Given the description of an element on the screen output the (x, y) to click on. 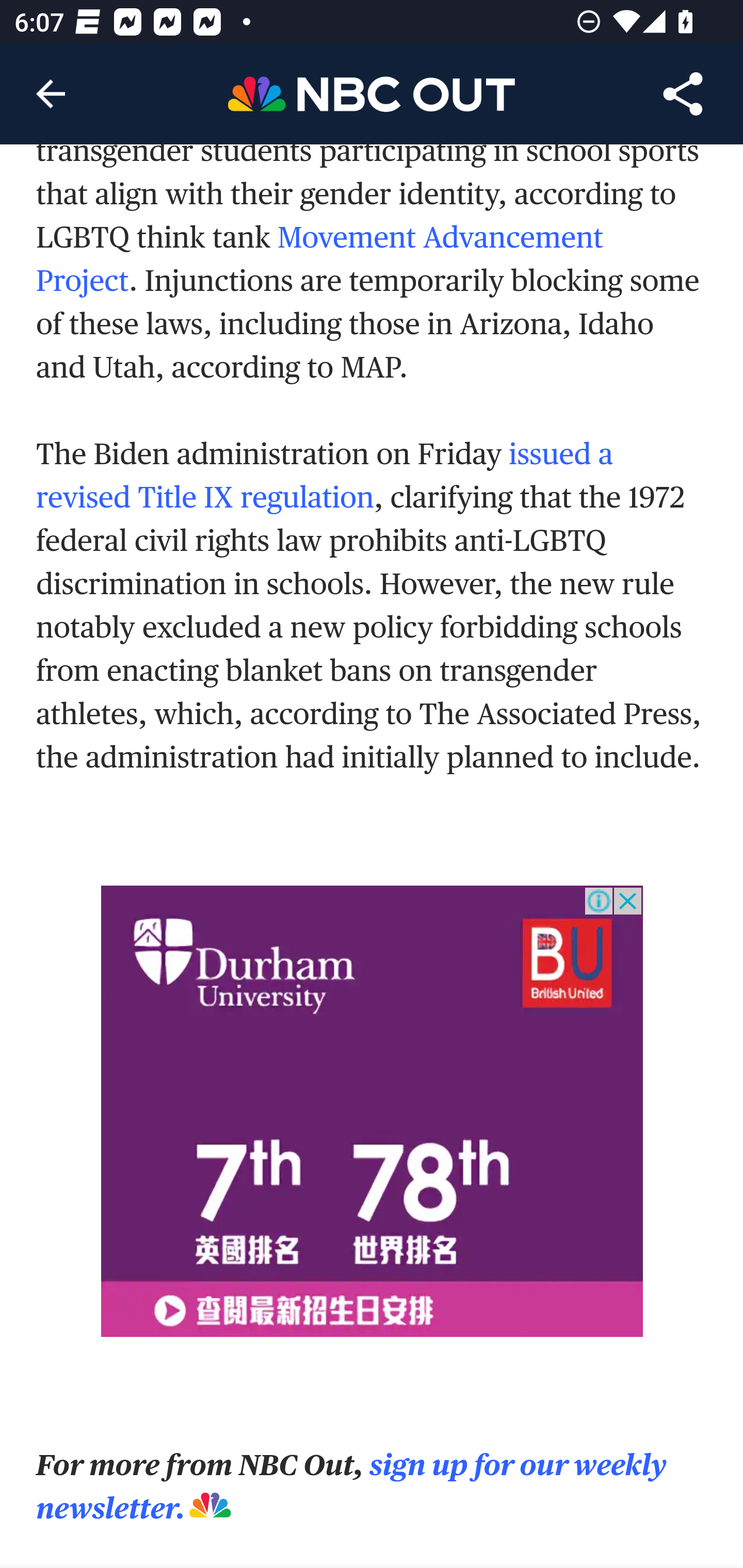
Navigate up (50, 93)
Share Article, button (683, 94)
Header, NBC Out (371, 93)
Movement Advancement Project (320, 259)
 issued a revised Title IX regulation (324, 476)
sign up for our weekly newsletter. (351, 1487)
